Given the description of an element on the screen output the (x, y) to click on. 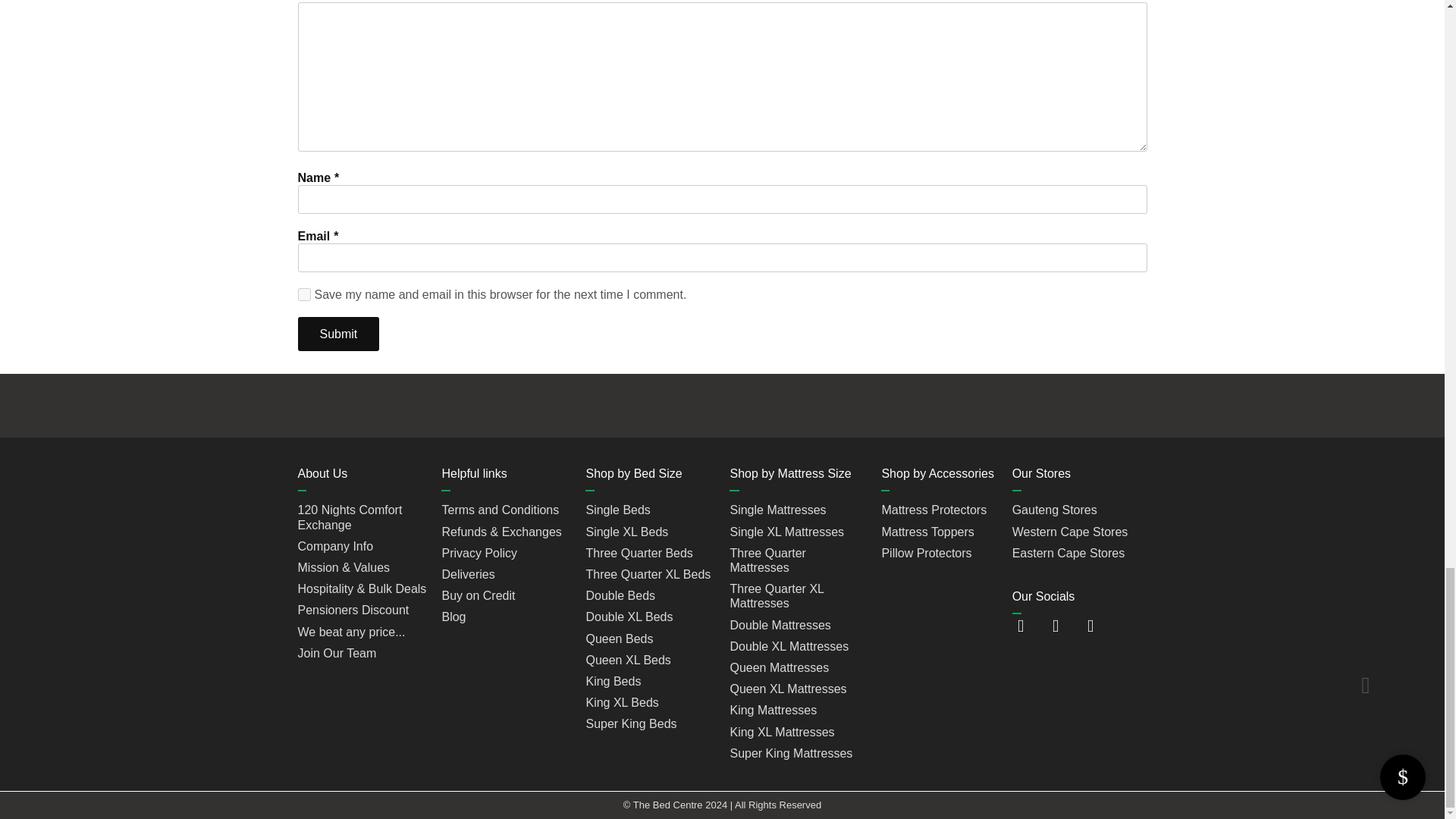
on (303, 294)
